Given the description of an element on the screen output the (x, y) to click on. 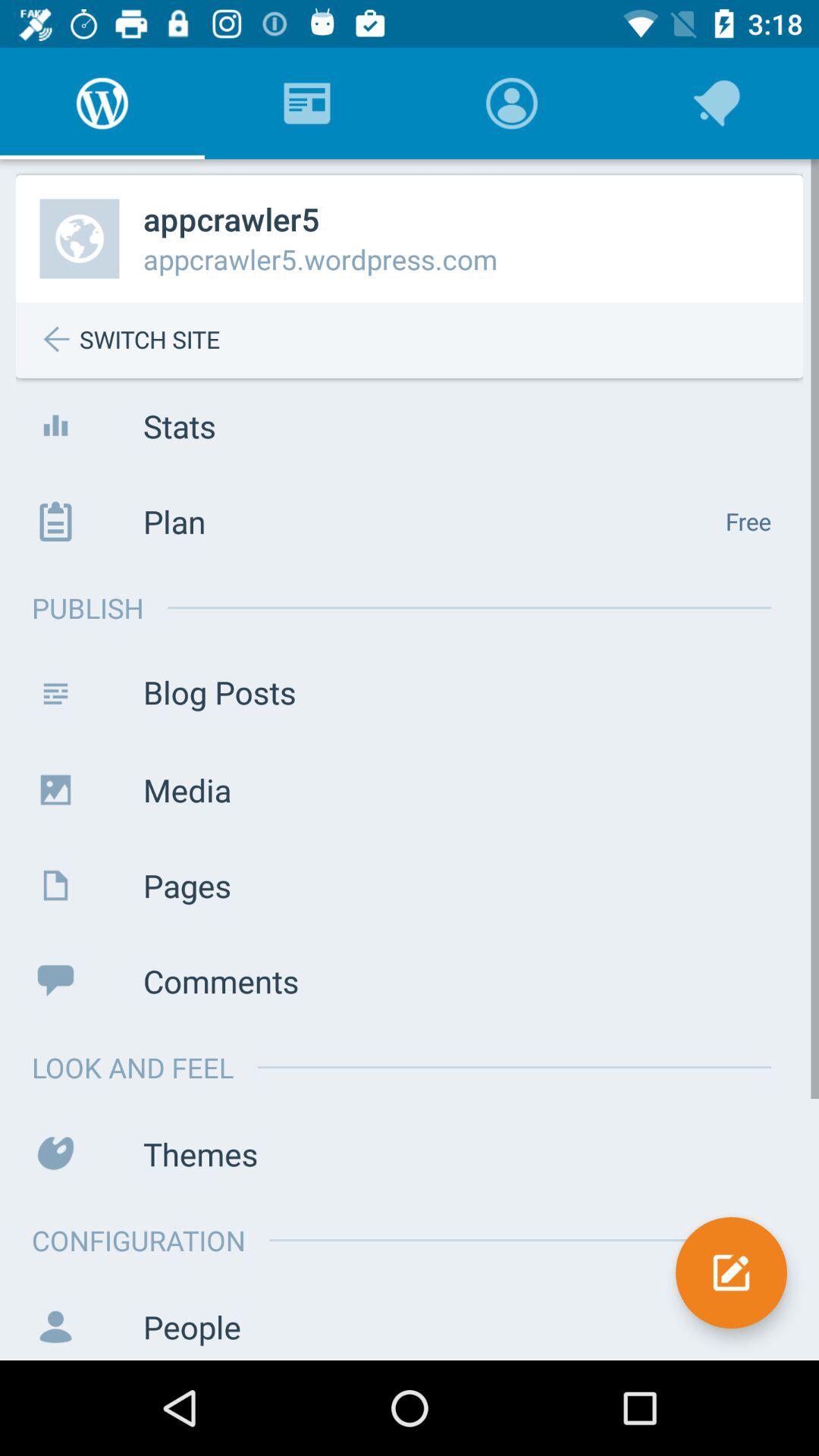
click on bell icon on the topmost right corner of the page beside contact icon (716, 103)
